Given the description of an element on the screen output the (x, y) to click on. 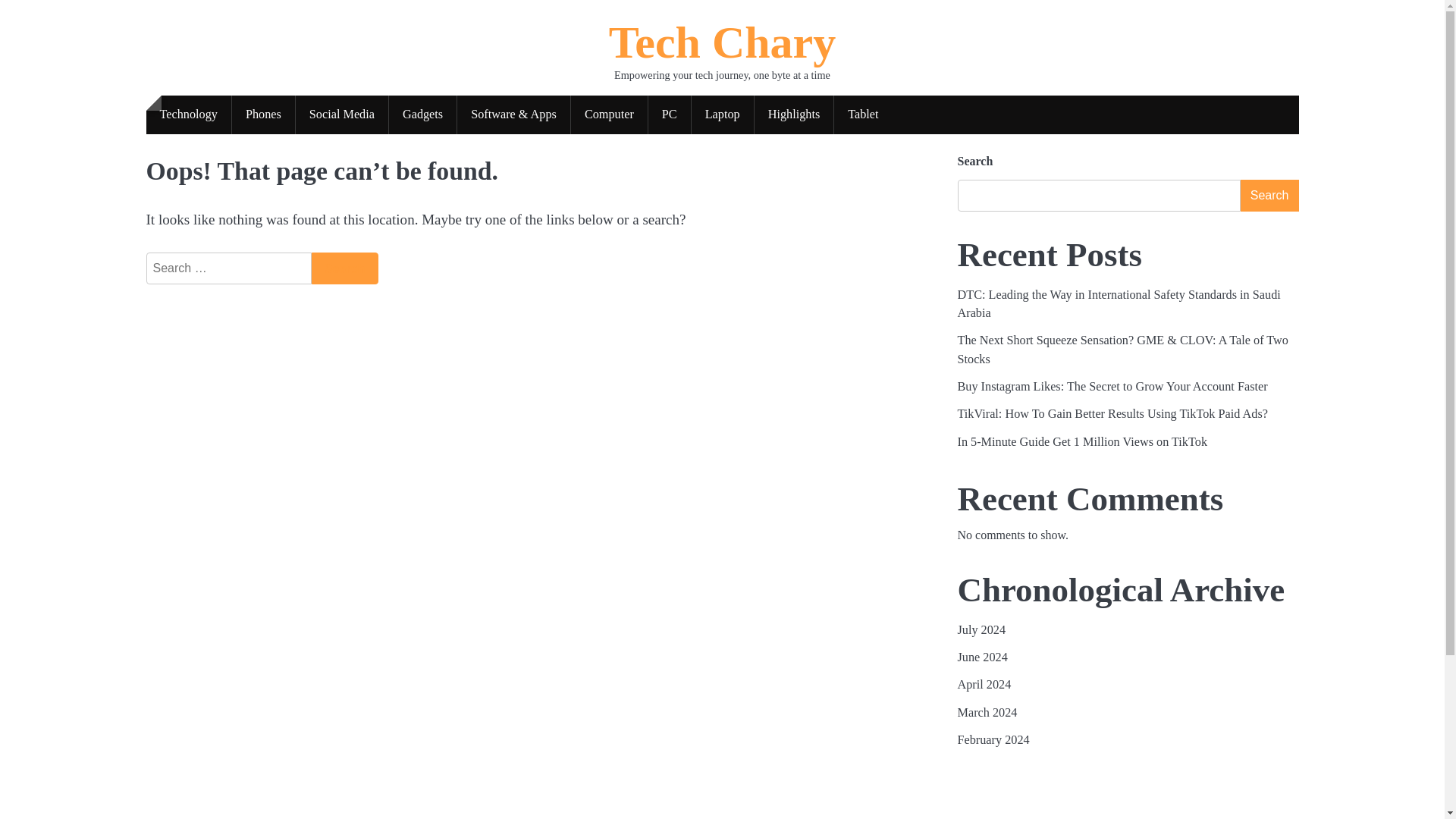
Buy Instagram Likes: The Secret to Grow Your Account Faster (1111, 386)
TikViral: How To Gain Better Results Using TikTok Paid Ads?  (1112, 413)
Laptop (722, 114)
April 2024 (983, 684)
In 5-Minute Guide Get 1 Million Views on TikTok (1081, 441)
Technology (187, 114)
Search (344, 268)
Search (344, 268)
June 2024 (981, 657)
